Given the description of an element on the screen output the (x, y) to click on. 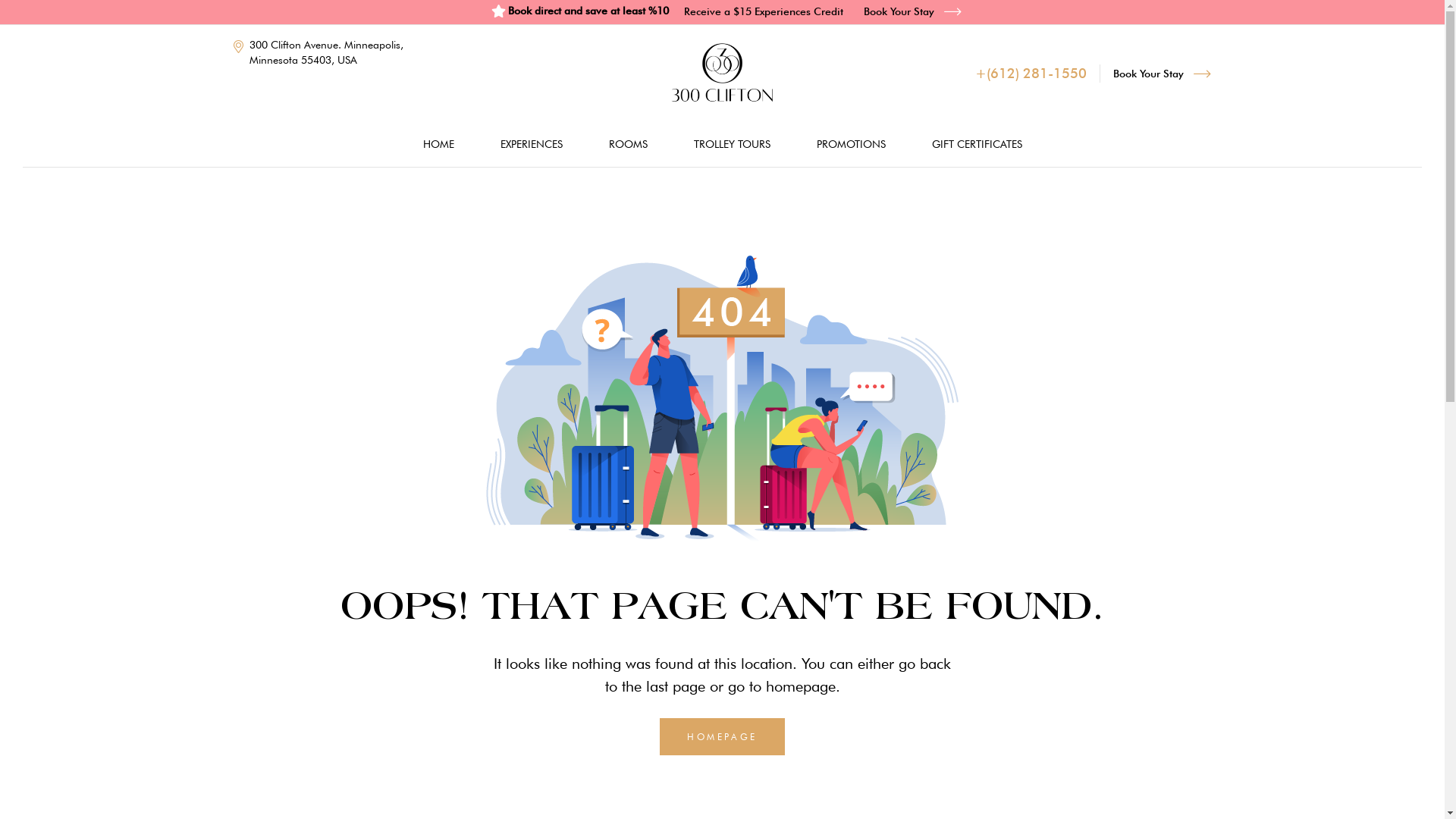
Book direct and save at least %10 Element type: text (579, 10)
ROOMS Element type: text (627, 143)
Receive a $15 Experiences Credit Element type: text (763, 10)
TROLLEY TOURS Element type: text (730, 143)
PROMOTIONS Element type: text (850, 143)
HOMEPAGE Element type: text (721, 736)
Book Your Stay Element type: text (1162, 73)
+(612) 281-1550 Element type: text (1030, 73)
GIFT CERTIFICATES Element type: text (976, 143)
HOME Element type: text (438, 143)
Book Your Stay Element type: text (912, 10)
EXPERIENCES Element type: text (531, 143)
300 Clifton Avenue. Minneapolis, Minnesota 55403, USA Element type: text (323, 52)
